Given the description of an element on the screen output the (x, y) to click on. 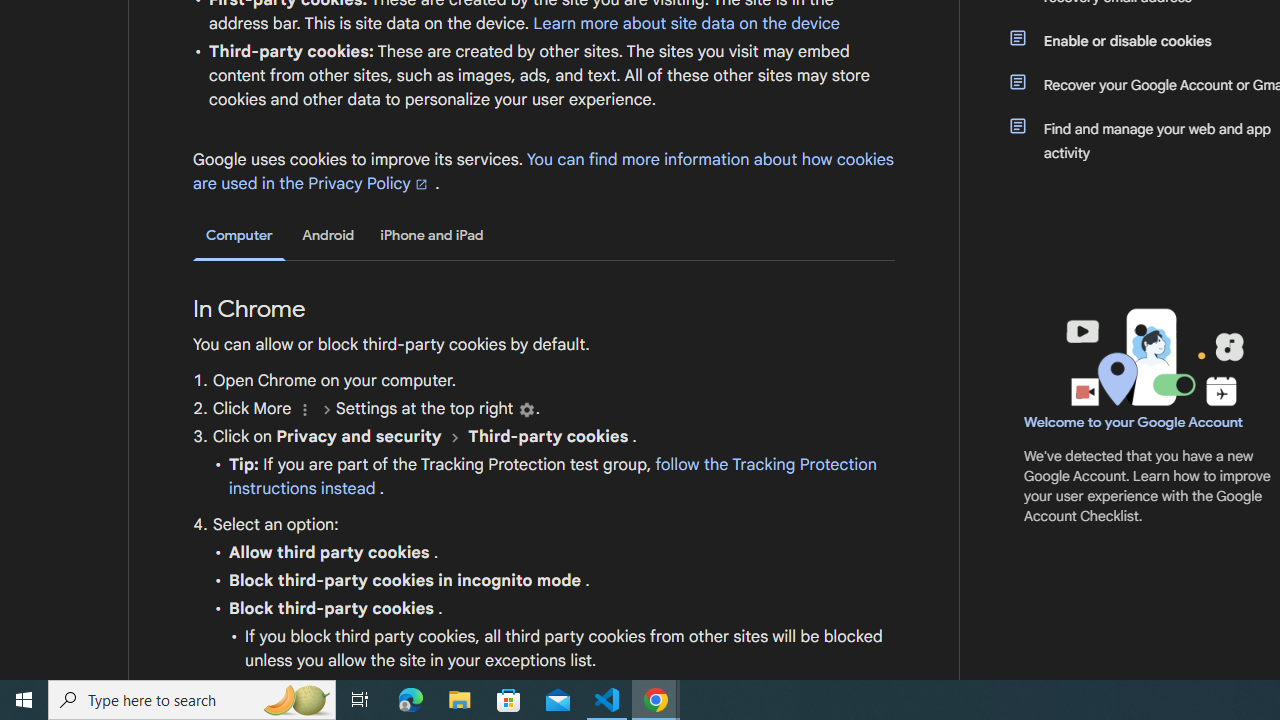
iPhone and iPad (431, 235)
Computer (239, 235)
follow the Tracking Protection instructions instead (552, 476)
and then (454, 437)
More (303, 409)
Android (328, 235)
Institutions (526, 409)
Learning Center home page image (1152, 357)
Learn more about site data on the device (686, 23)
Welcome to your Google Account (1134, 422)
